Given the description of an element on the screen output the (x, y) to click on. 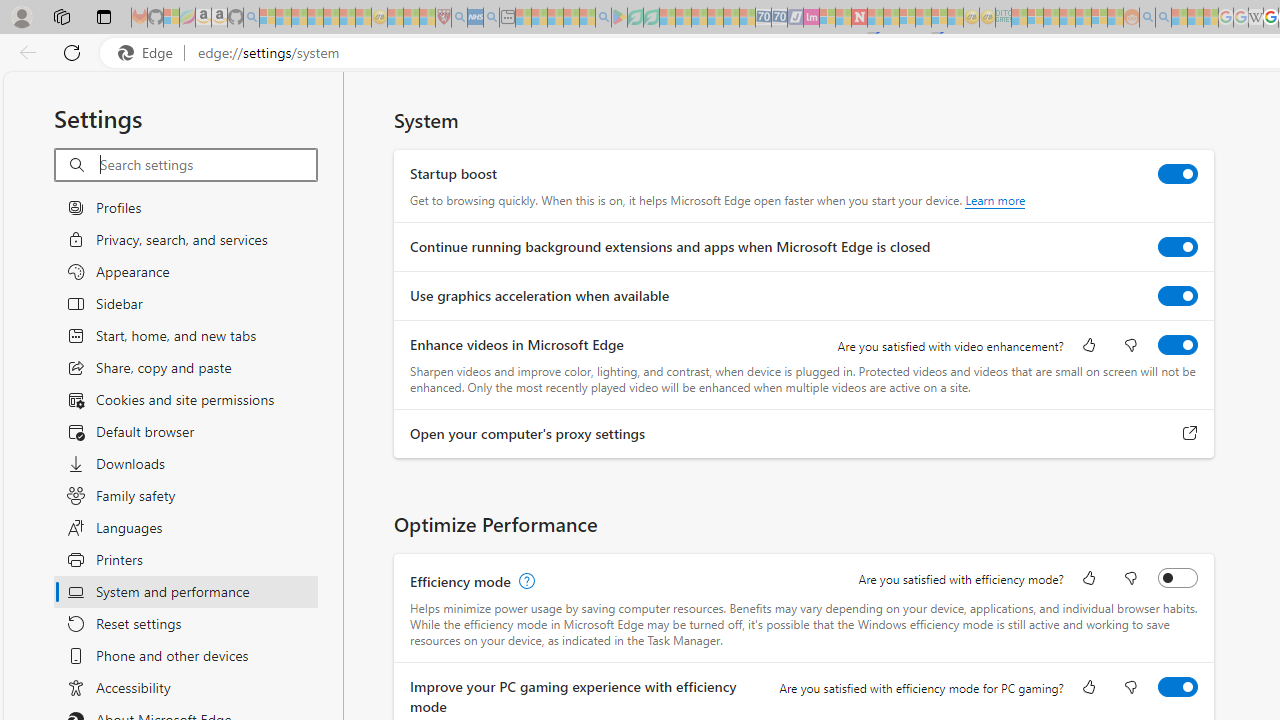
Learn more (995, 200)
Expert Portfolios - Sleeping (1067, 17)
Latest Politics News & Archive | Newsweek.com - Sleeping (859, 17)
Local - MSN - Sleeping (427, 17)
Target page - Wikipedia - Sleeping (1256, 17)
Startup boost (1178, 174)
Enhance videos in Microsoft Edge (1178, 344)
